Given the description of an element on the screen output the (x, y) to click on. 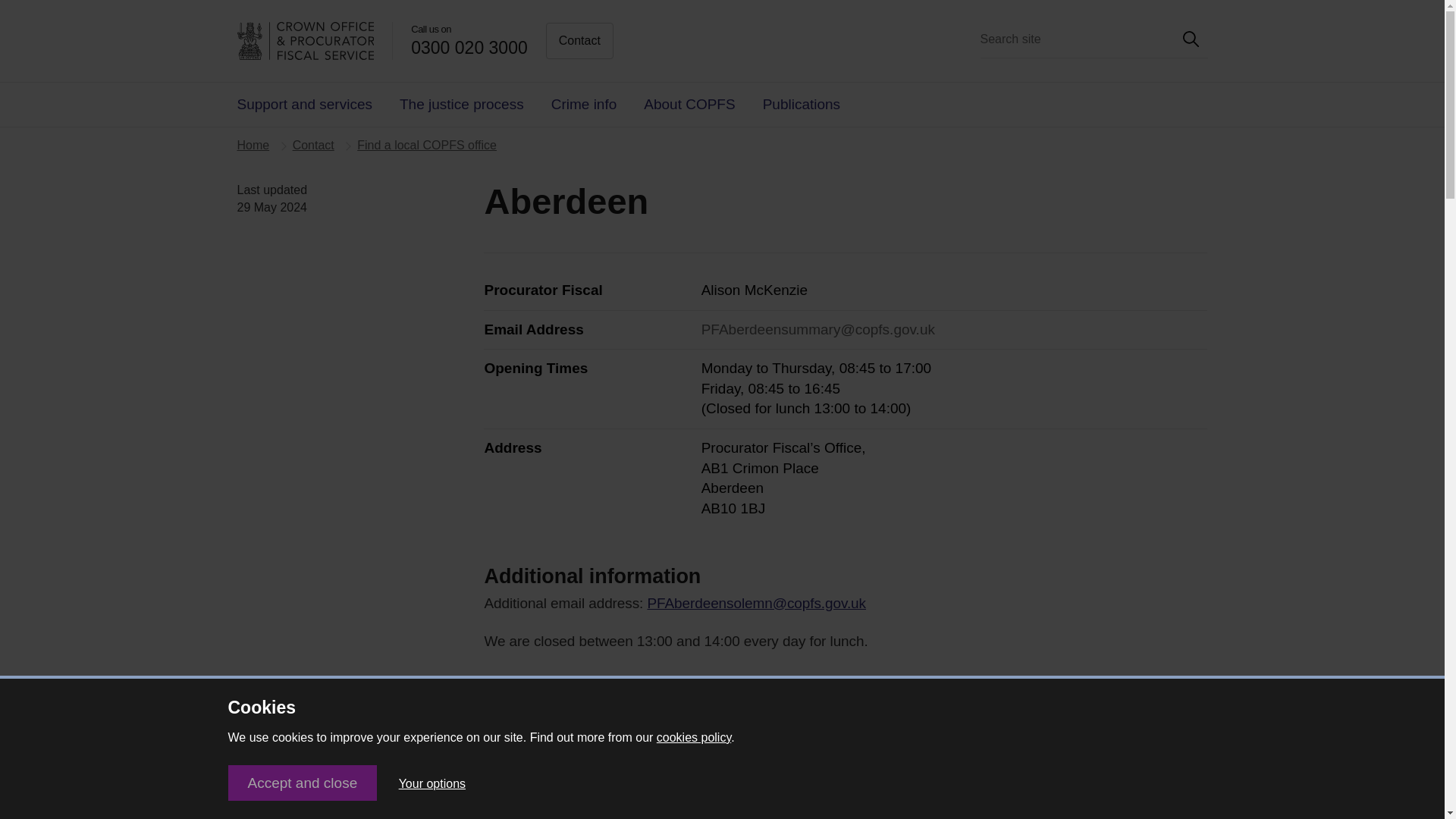
Crime info (584, 104)
Contact (313, 144)
Logo of the Crown Office and Procurator Fiscal Service (304, 40)
Logo of the Crown Office and Procurator Fiscal Service (314, 40)
Accept and close (302, 782)
About COPFS (689, 104)
Home (252, 144)
Contact (579, 40)
0300 020 3000 (468, 47)
Your options (431, 783)
